Given the description of an element on the screen output the (x, y) to click on. 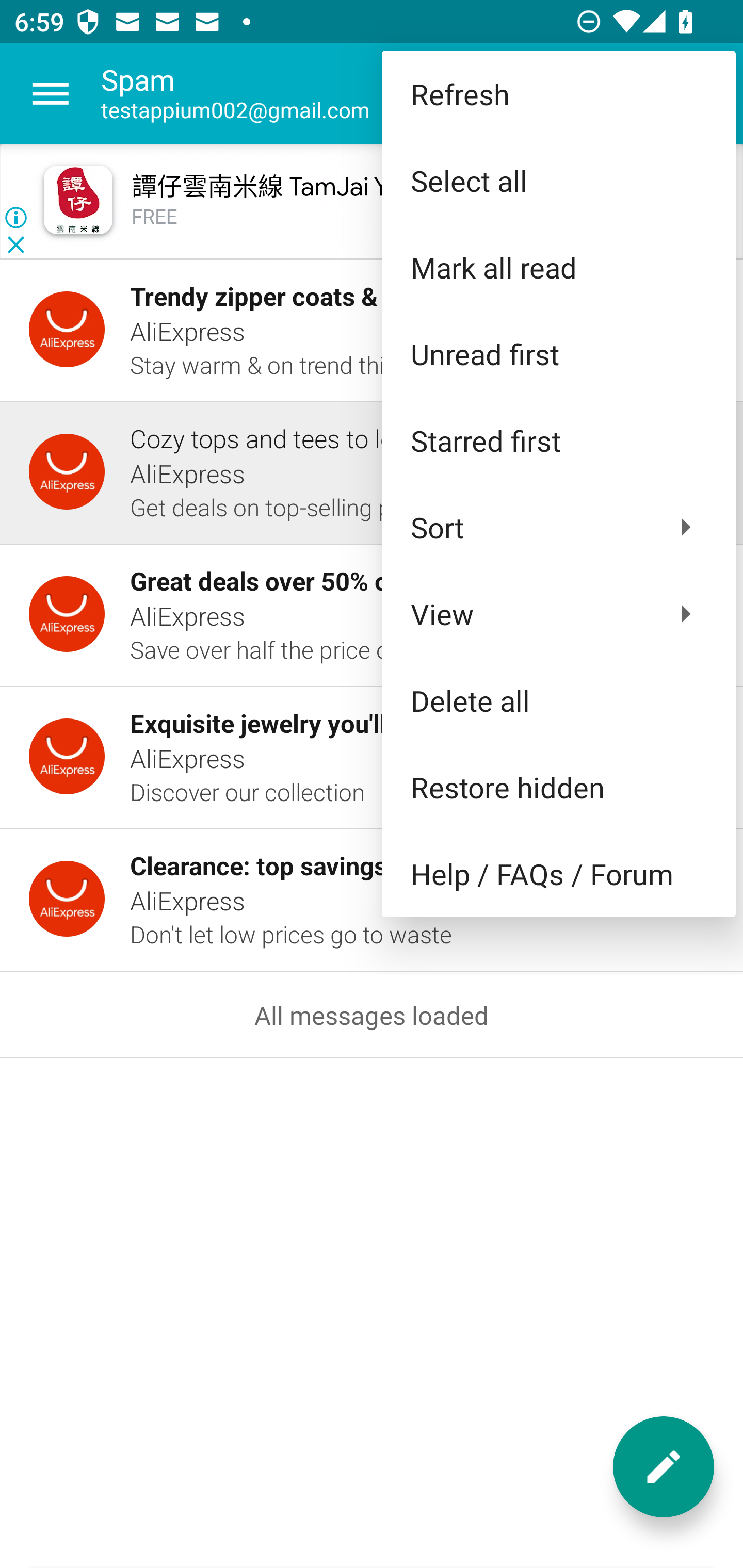
Refresh (558, 93)
Select all (558, 180)
Mark all read (558, 267)
Unread first (558, 353)
Starred first (558, 440)
Sort (558, 527)
View (558, 613)
Delete all (558, 699)
Restore hidden (558, 787)
Help / FAQs / Forum (558, 874)
